Given the description of an element on the screen output the (x, y) to click on. 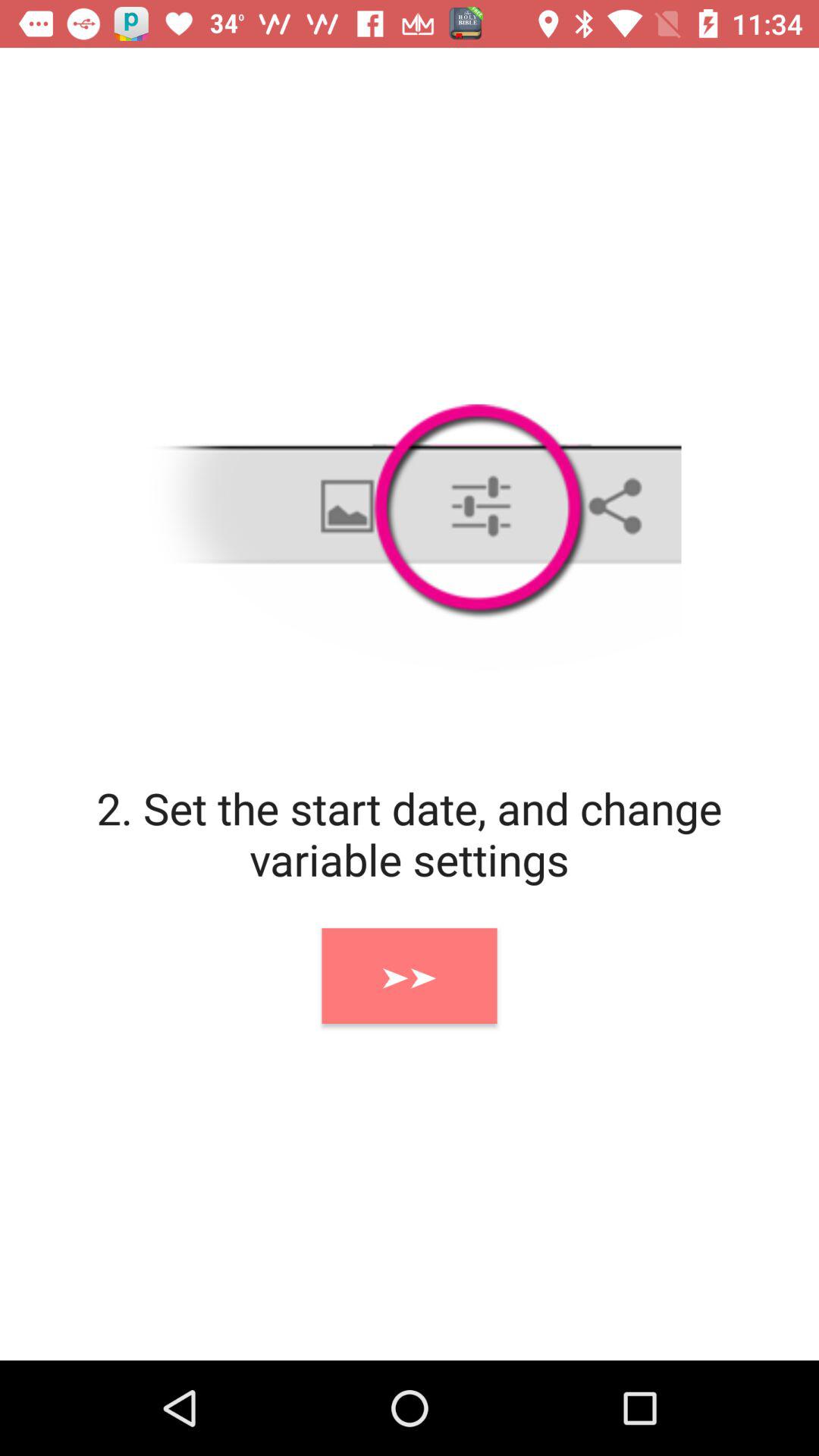
tap app below 2 set the item (409, 975)
